Given the description of an element on the screen output the (x, y) to click on. 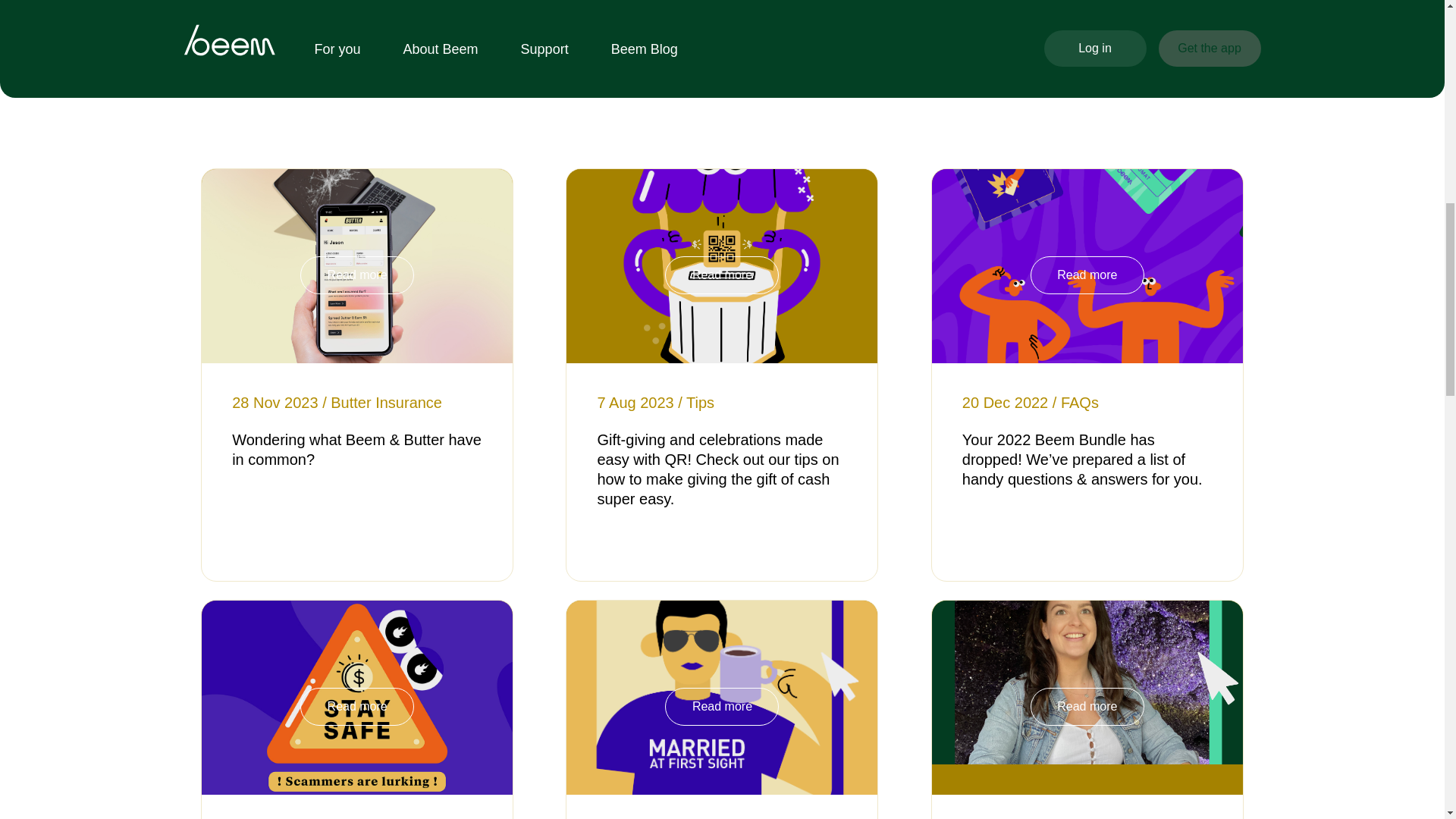
Read more (1087, 706)
Read more (356, 275)
Read more (356, 706)
Read more (1087, 275)
Read more (721, 706)
Read more (721, 275)
